Given the description of an element on the screen output the (x, y) to click on. 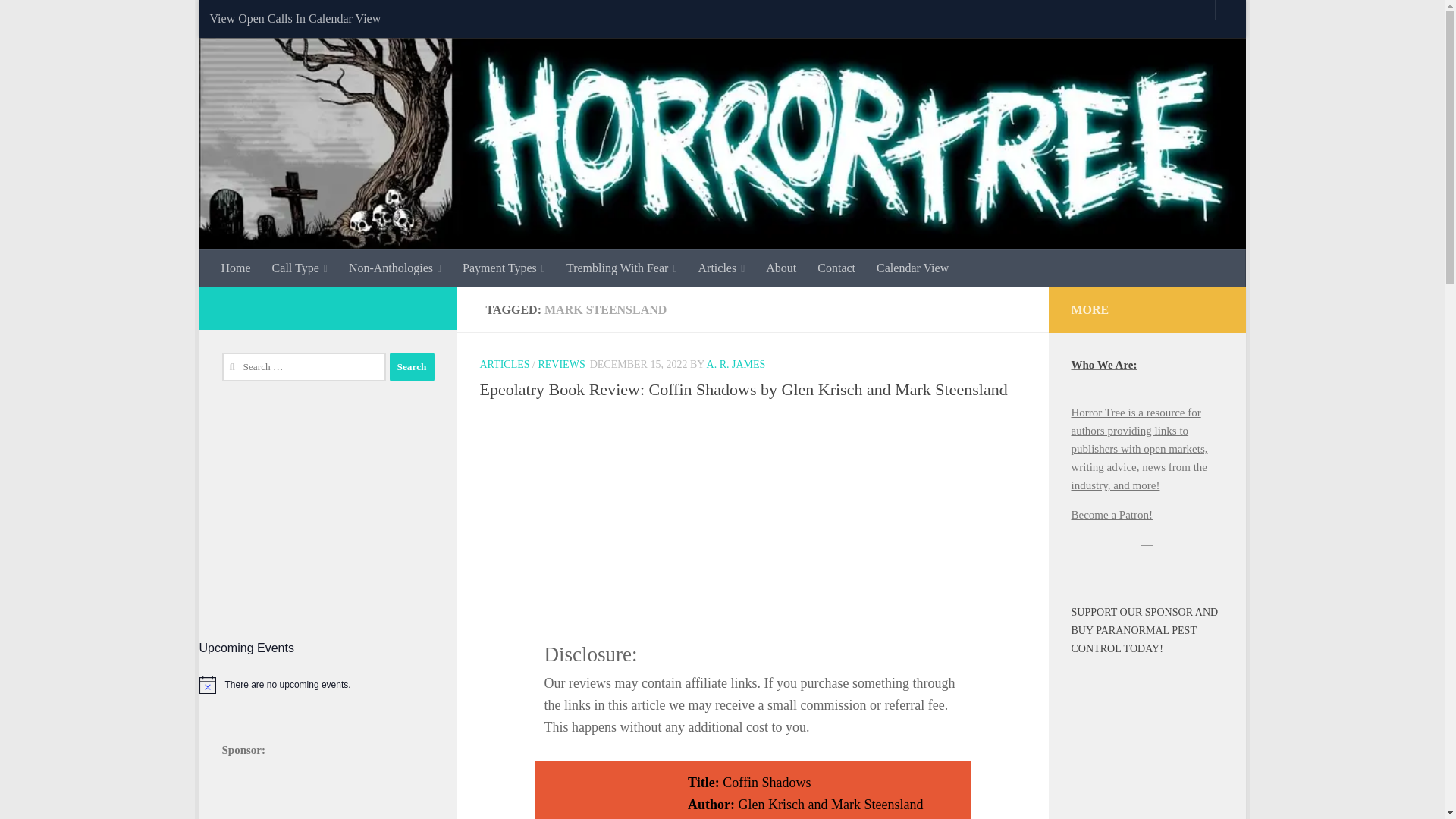
Search (411, 366)
Posts by A. R. James (735, 364)
Search (411, 366)
View Open Calls In Calendar View (294, 18)
Skip to content (258, 20)
Epeolatry (752, 506)
